Given the description of an element on the screen output the (x, y) to click on. 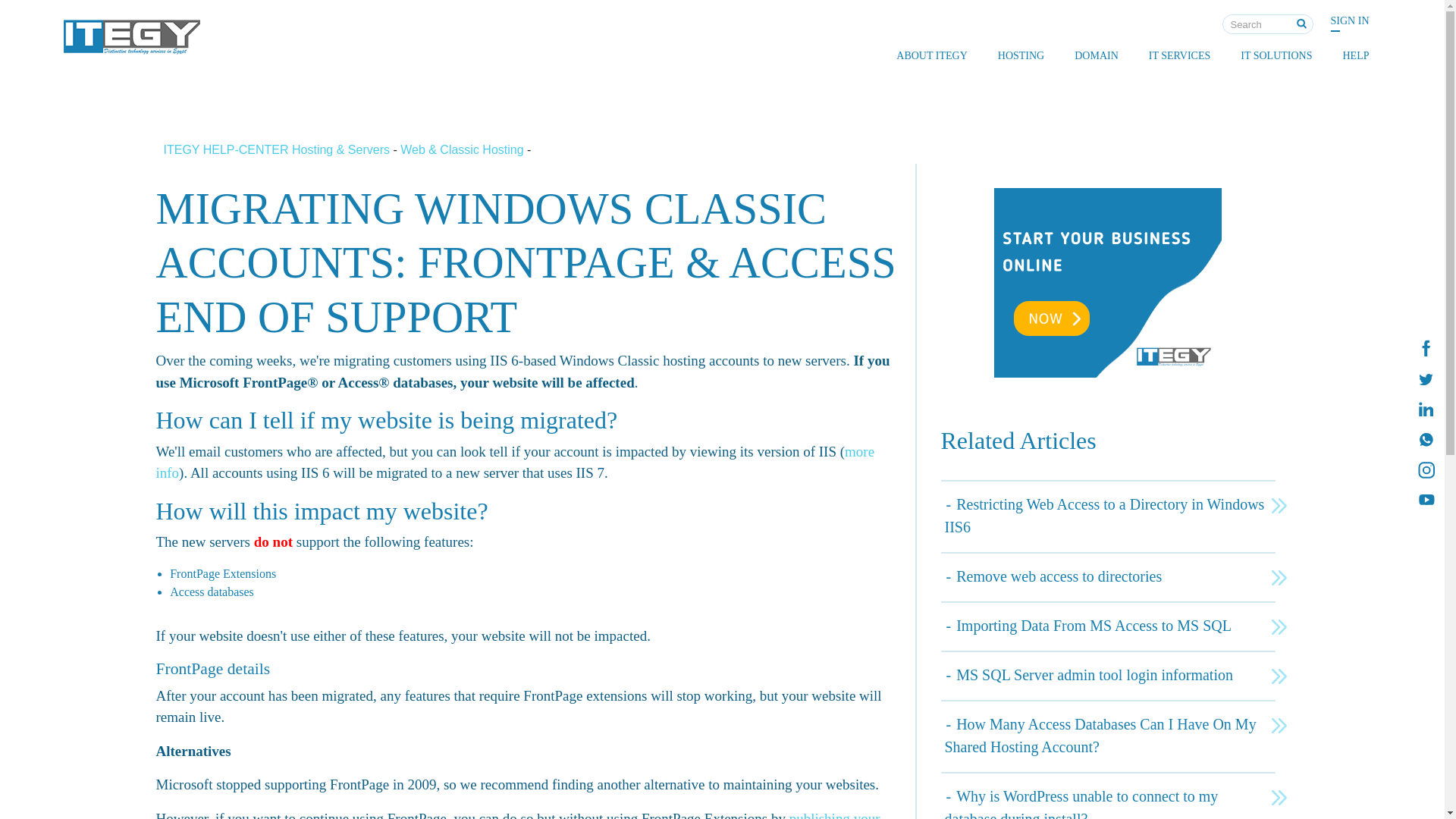
HELP (1355, 55)
HOSTING (1021, 55)
IT SOLUTIONS (1275, 55)
ABOUT ITEGY (930, 55)
IT SERVICES (1180, 55)
IT CONSULTANCY (1173, 82)
CPANEL (1022, 82)
DOMAIN REGISTRATION (1099, 82)
more info (515, 462)
FAQ (1341, 82)
